Given the description of an element on the screen output the (x, y) to click on. 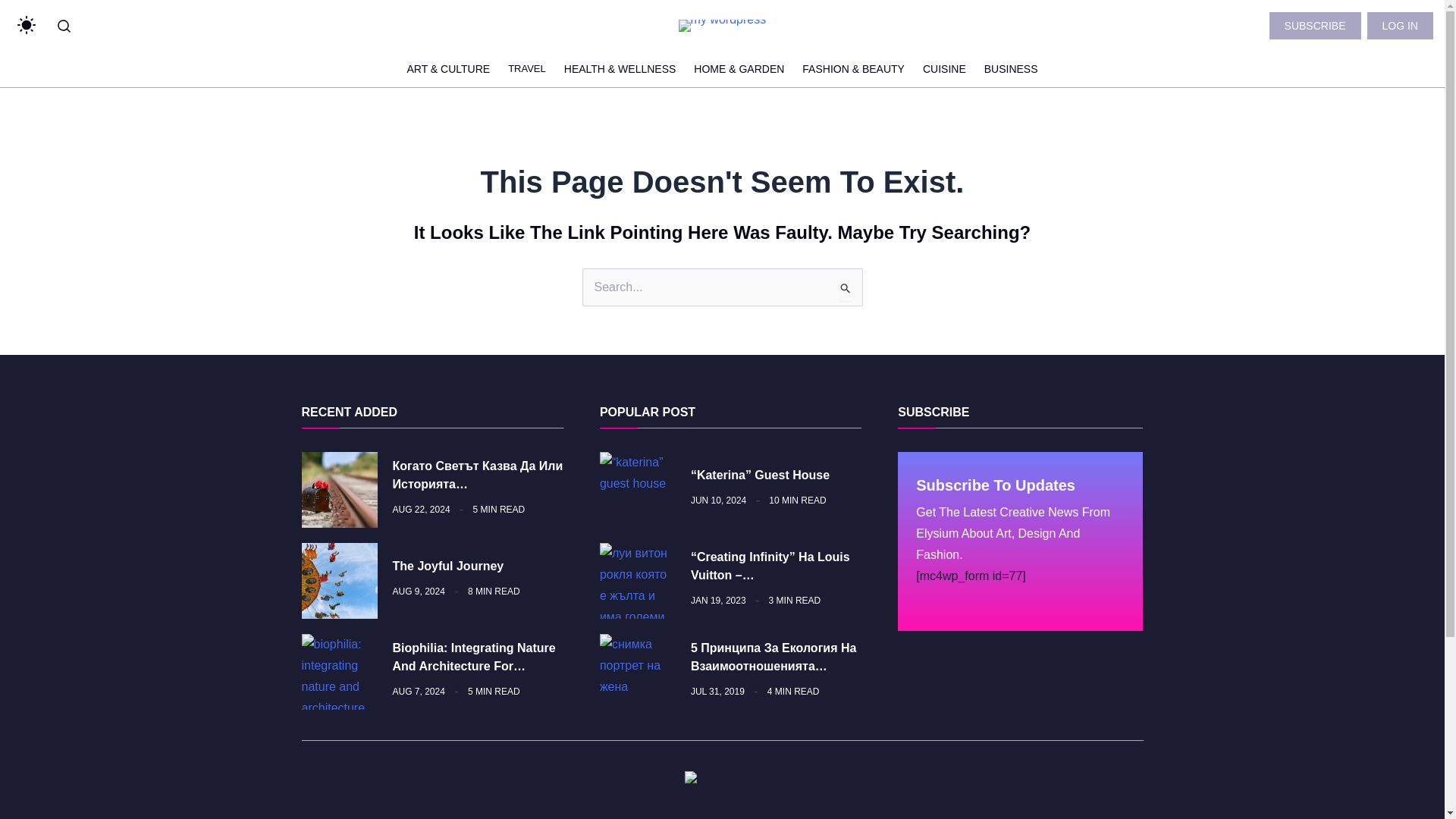
LOG IN (1399, 25)
TRAVEL (527, 68)
CUISINE (944, 68)
SUBSCRIBE (1315, 25)
The Joyful Journey (448, 565)
BUSINESS (1011, 68)
